Given the description of an element on the screen output the (x, y) to click on. 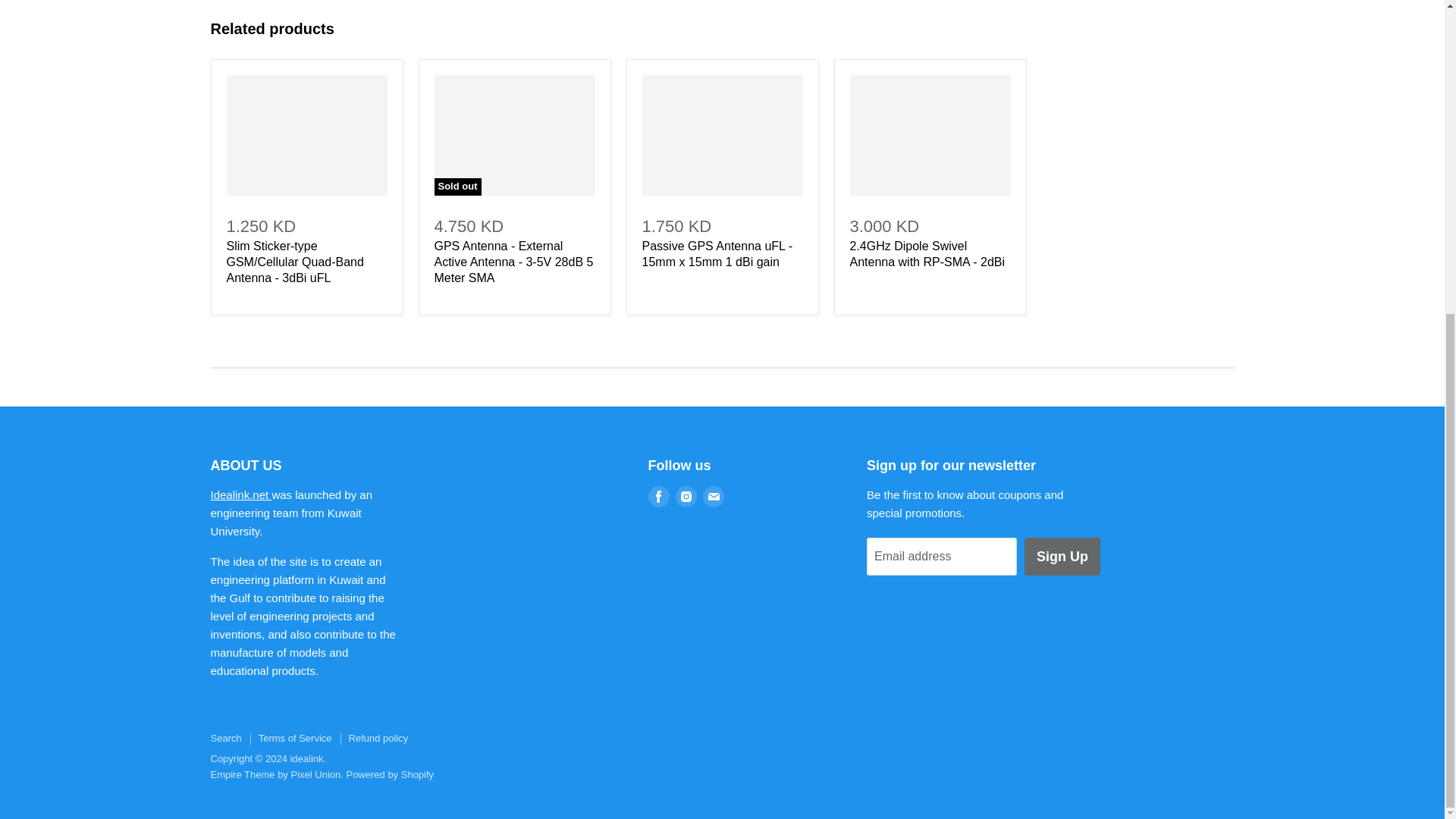
Facebook (658, 496)
Instagram (684, 496)
E-mail (712, 496)
